Given the description of an element on the screen output the (x, y) to click on. 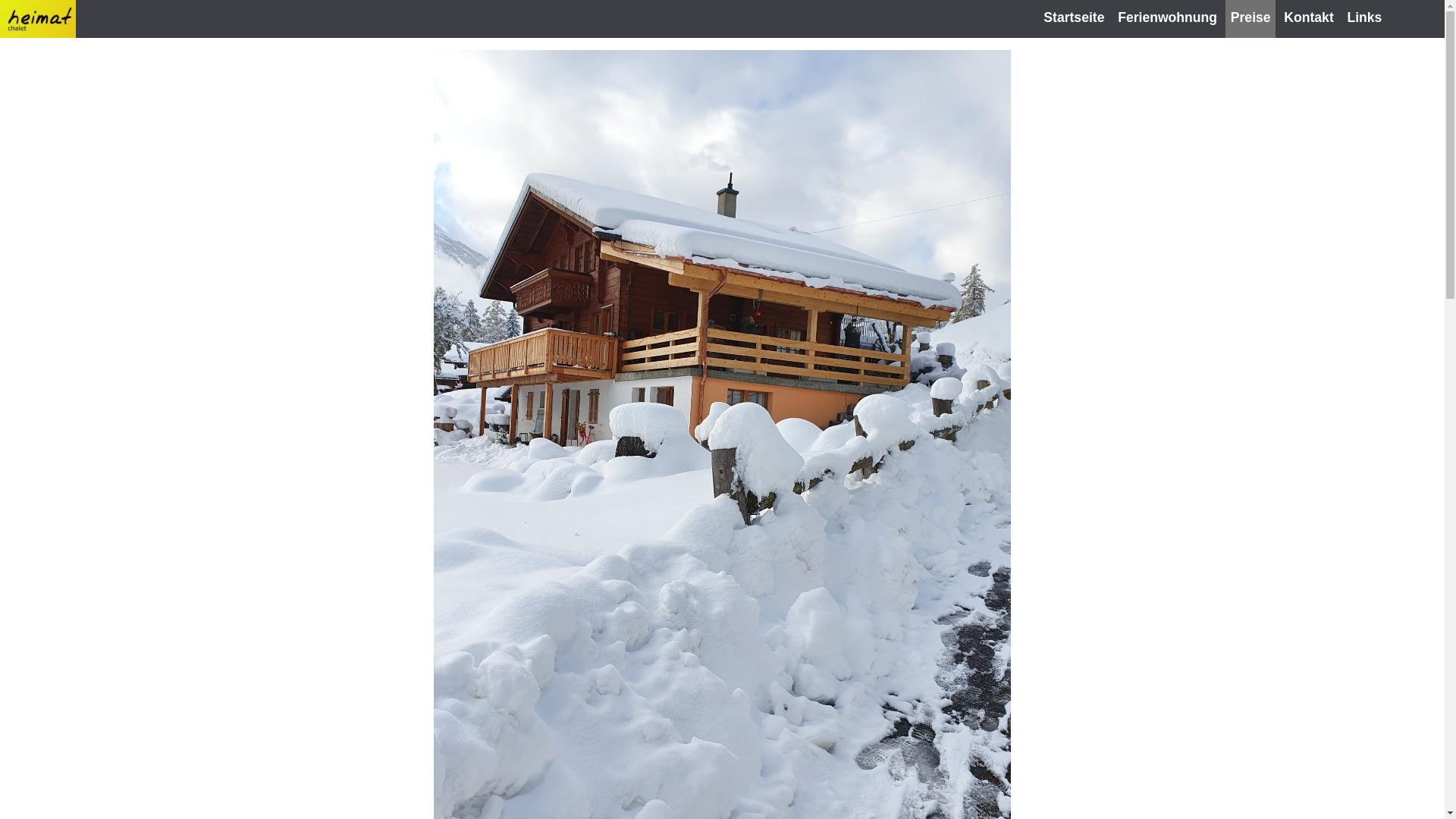
Kontakt Element type: text (1308, 17)
Preise Element type: text (1250, 17)
Startseite Element type: text (1073, 17)
Ferienwohnung Element type: text (1167, 17)
Links Element type: text (1363, 17)
